Given the description of an element on the screen output the (x, y) to click on. 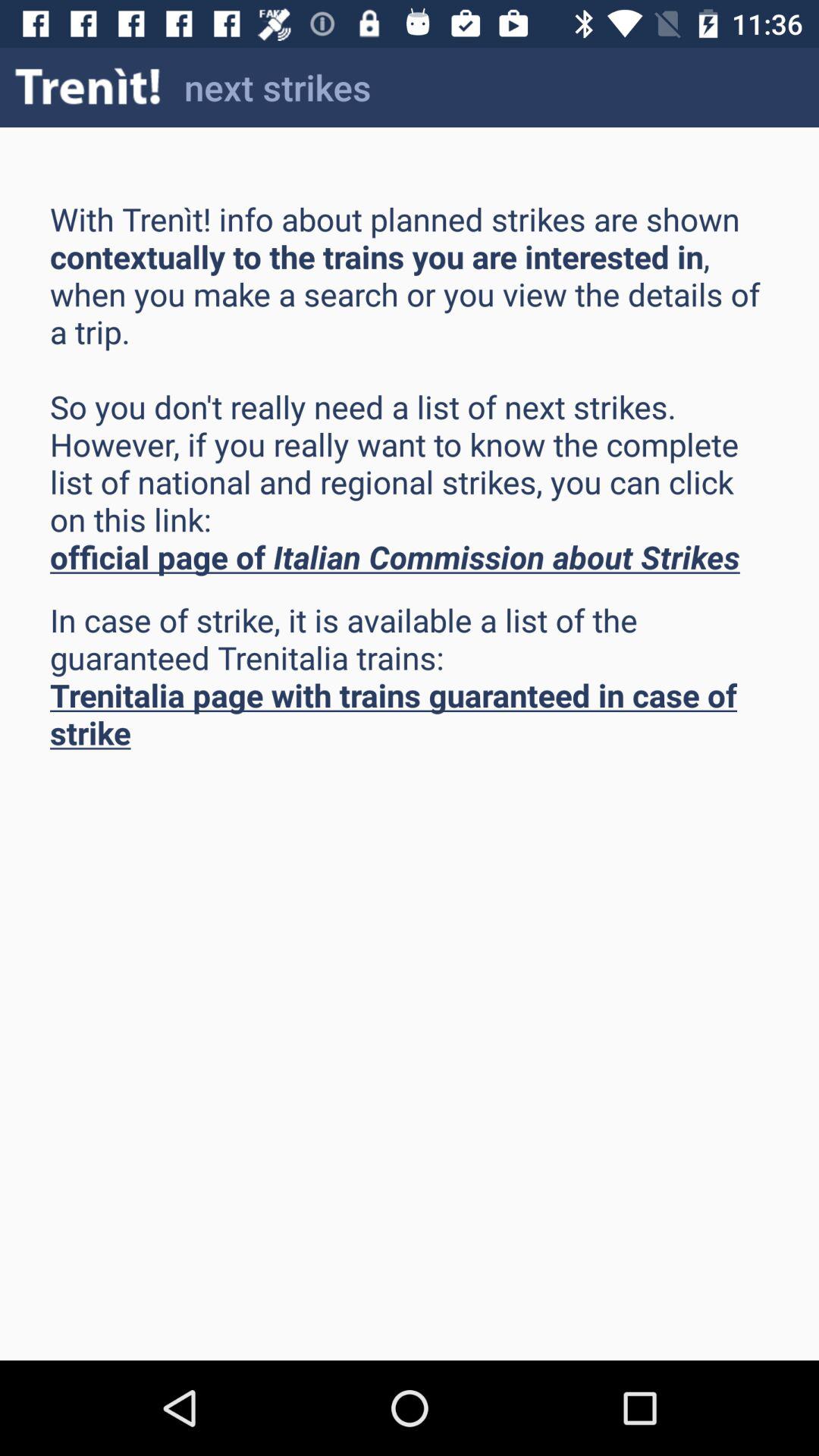
tap item above the in case of item (409, 387)
